Given the description of an element on the screen output the (x, y) to click on. 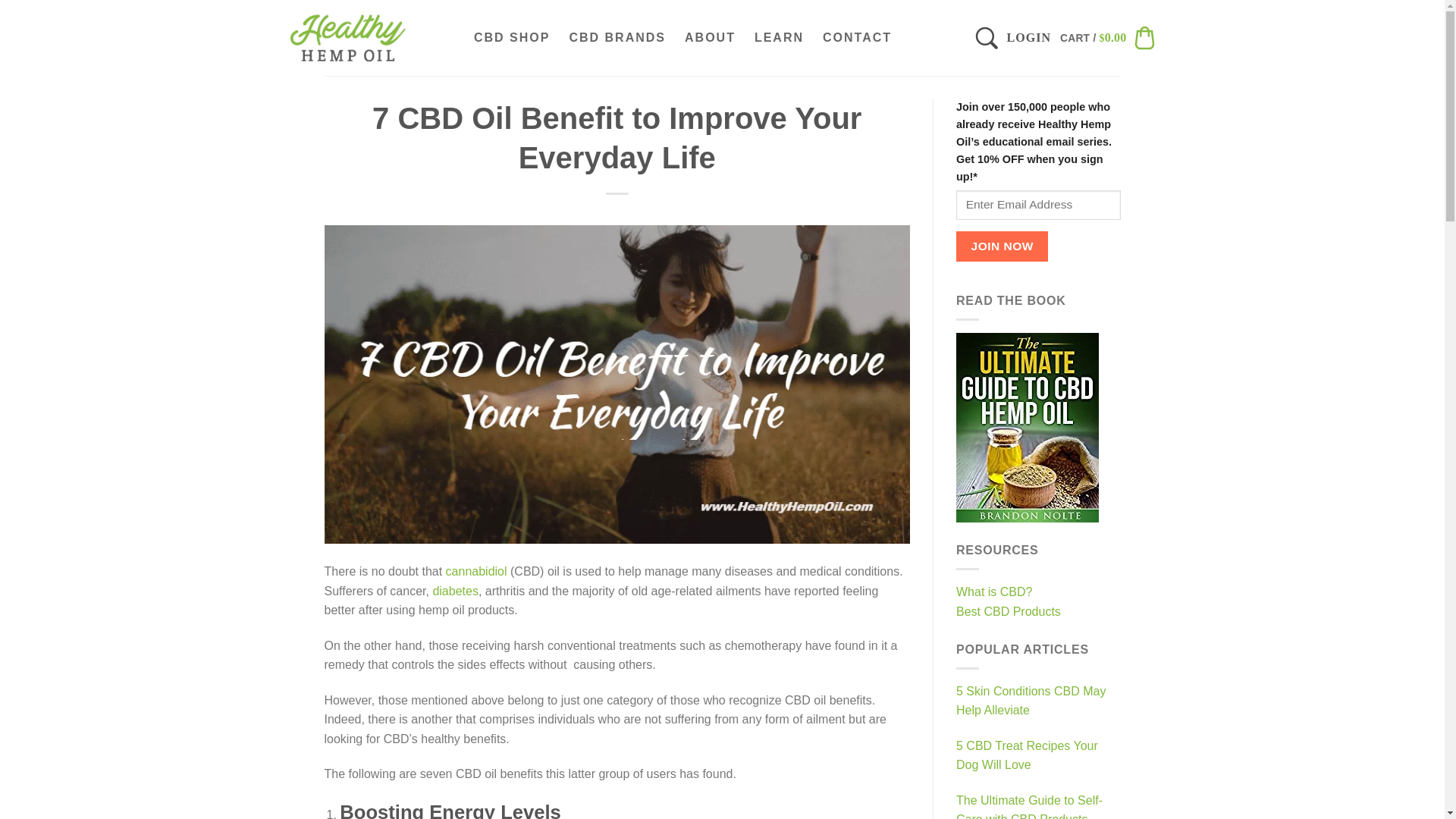
LEARN (779, 37)
Cart (1106, 37)
CONTACT (856, 37)
CBD SHOP (511, 37)
ABOUT (710, 37)
CBD BRANDS (616, 37)
